Given the description of an element on the screen output the (x, y) to click on. 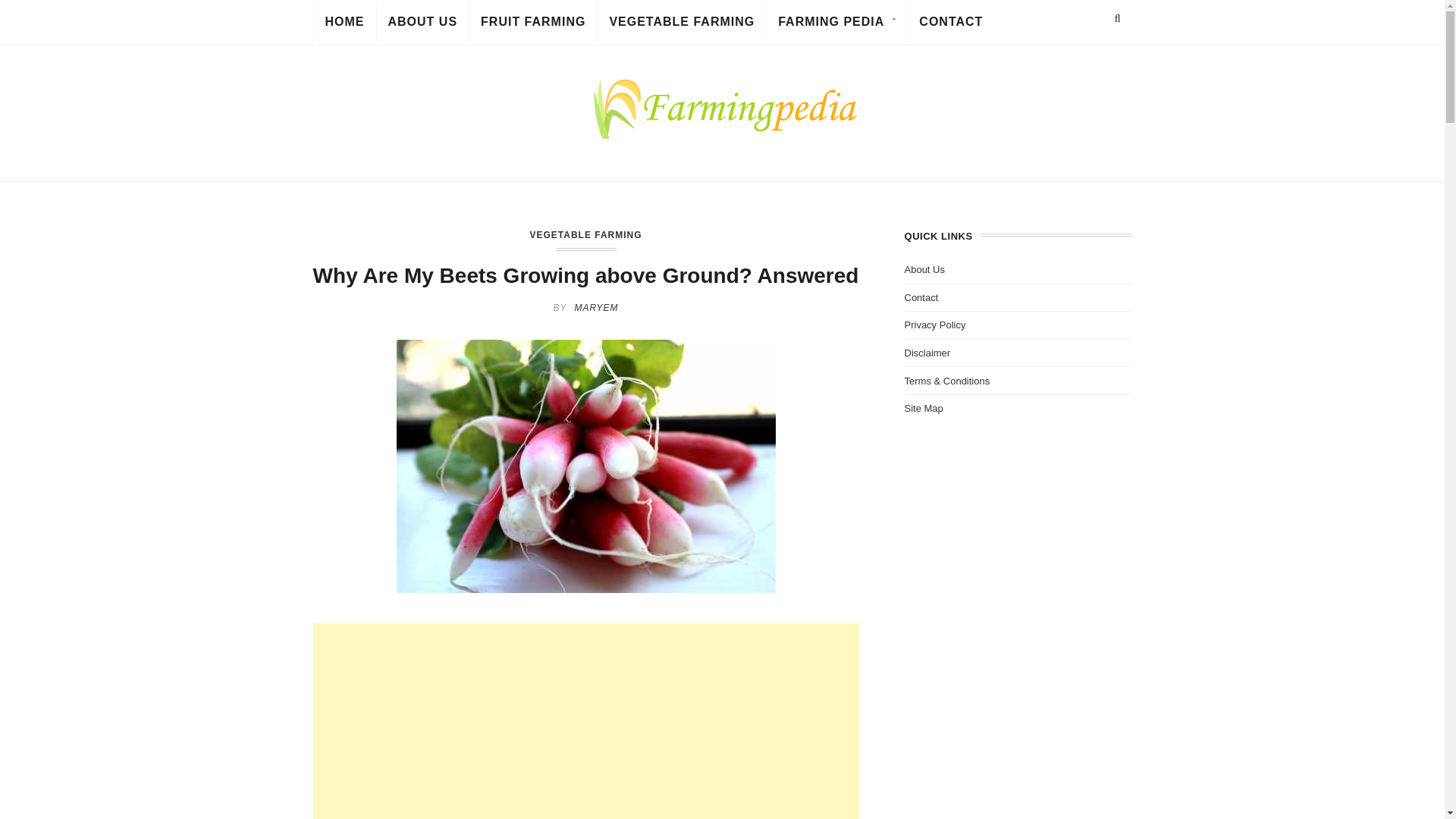
MARYEM (595, 307)
Site Map (923, 408)
Advertisement (586, 721)
VEGETABLE FARMING (680, 23)
Disclaimer (927, 352)
View all posts in Vegetable Farming (585, 235)
CONTACT (950, 23)
ABOUT US (421, 23)
Contact (920, 297)
